Given the description of an element on the screen output the (x, y) to click on. 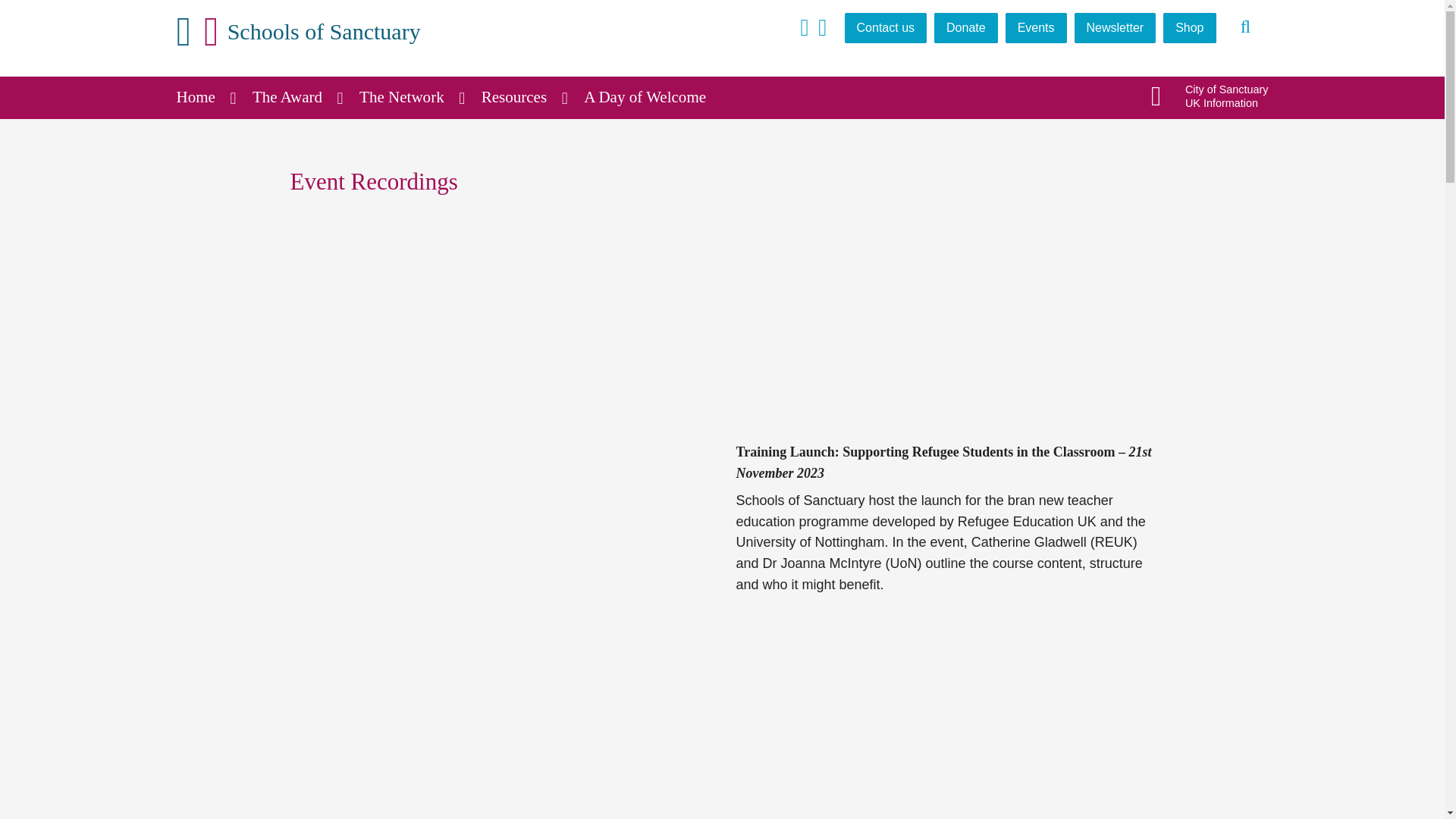
Contact us (885, 28)
Newsletter (1115, 28)
Schools of Sanctuary (298, 31)
Shop (1189, 28)
Home (205, 97)
Search (1246, 27)
Events (1036, 28)
The Network (411, 97)
A Day of Welcome (654, 97)
Schools of Sanctuary: Refugee Week Launch Event (925, 726)
